Given the description of an element on the screen output the (x, y) to click on. 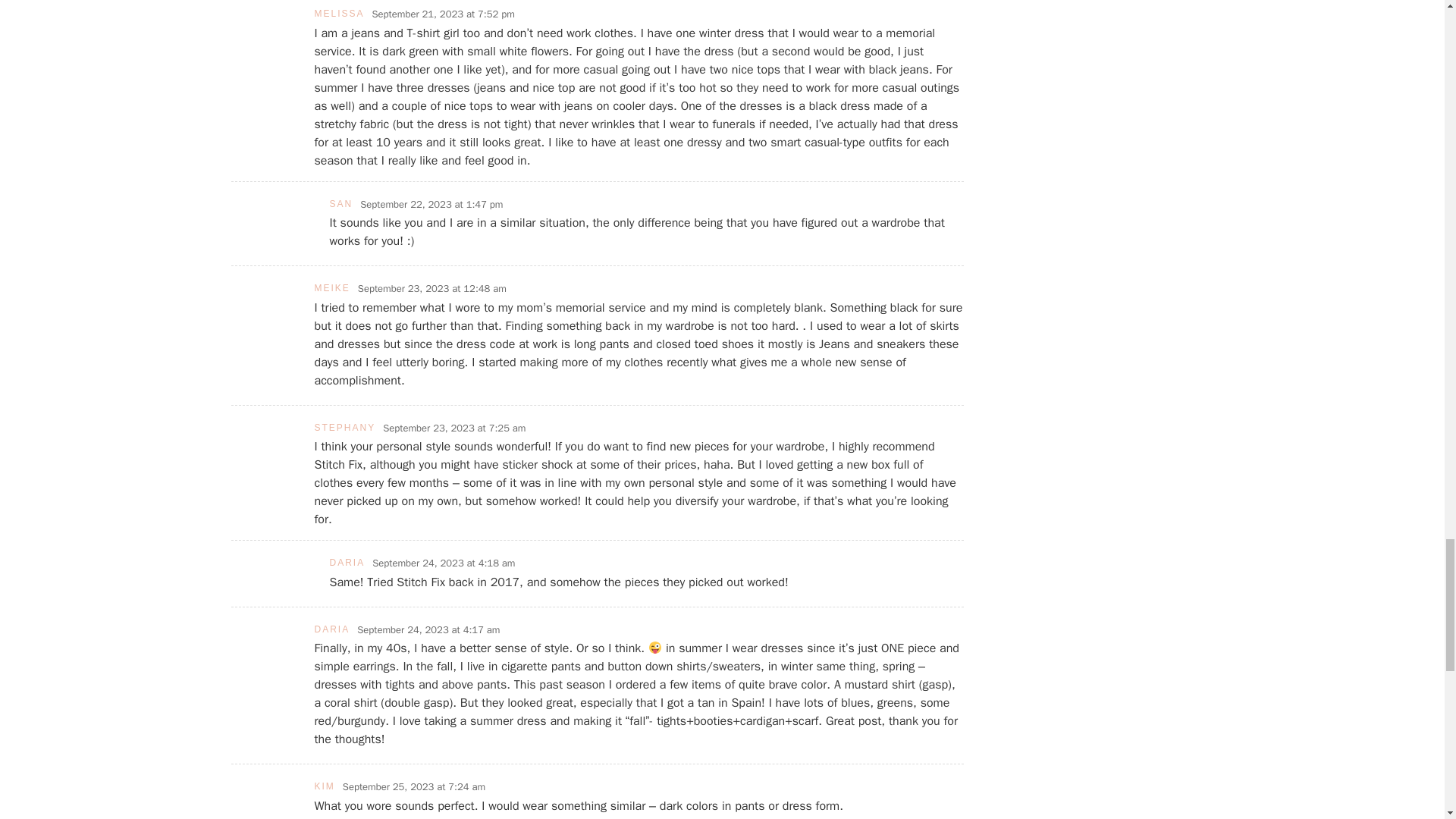
September 21, 2023 at 7:52 pm (443, 14)
MELISSA (339, 13)
SAN (340, 204)
